Given the description of an element on the screen output the (x, y) to click on. 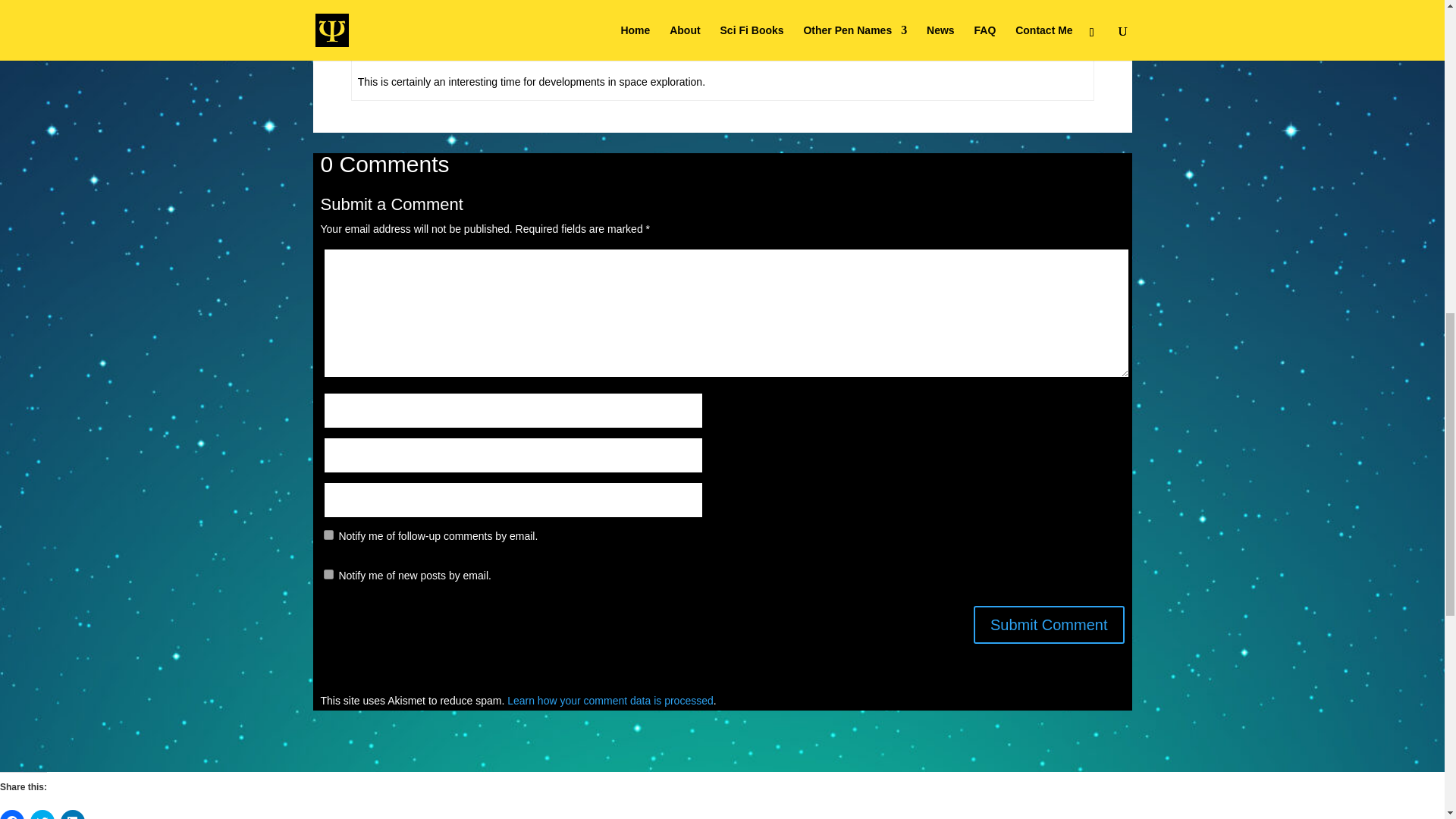
subscribe (328, 574)
Click to share on Facebook (12, 814)
subscribe (328, 534)
Click to share on LinkedIn (72, 814)
Submit Comment (1049, 624)
Learn how your comment data is processed (609, 700)
Click to share on Twitter (42, 814)
